Given the description of an element on the screen output the (x, y) to click on. 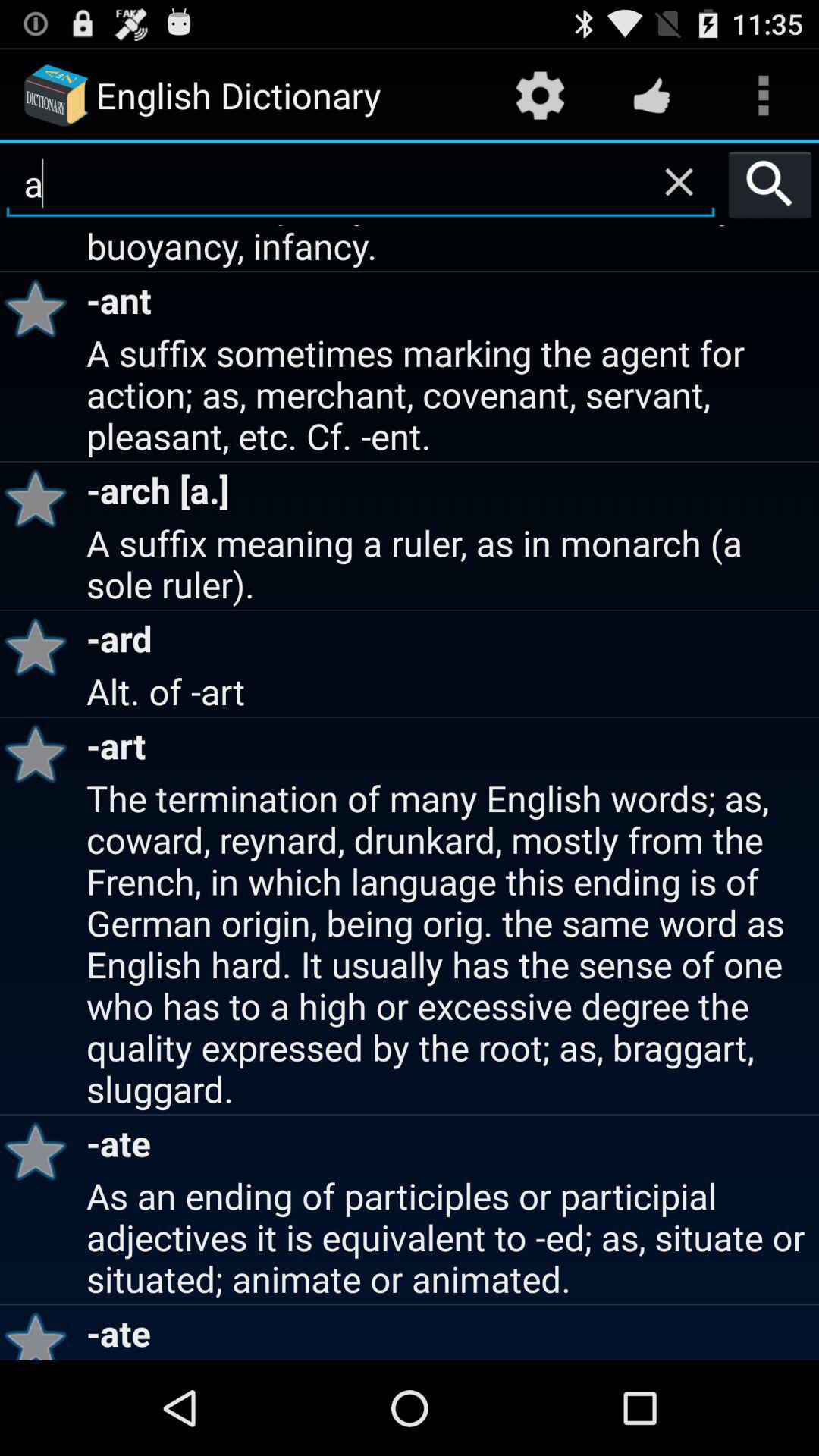
launch app to the left of the termination of icon (41, 1150)
